Given the description of an element on the screen output the (x, y) to click on. 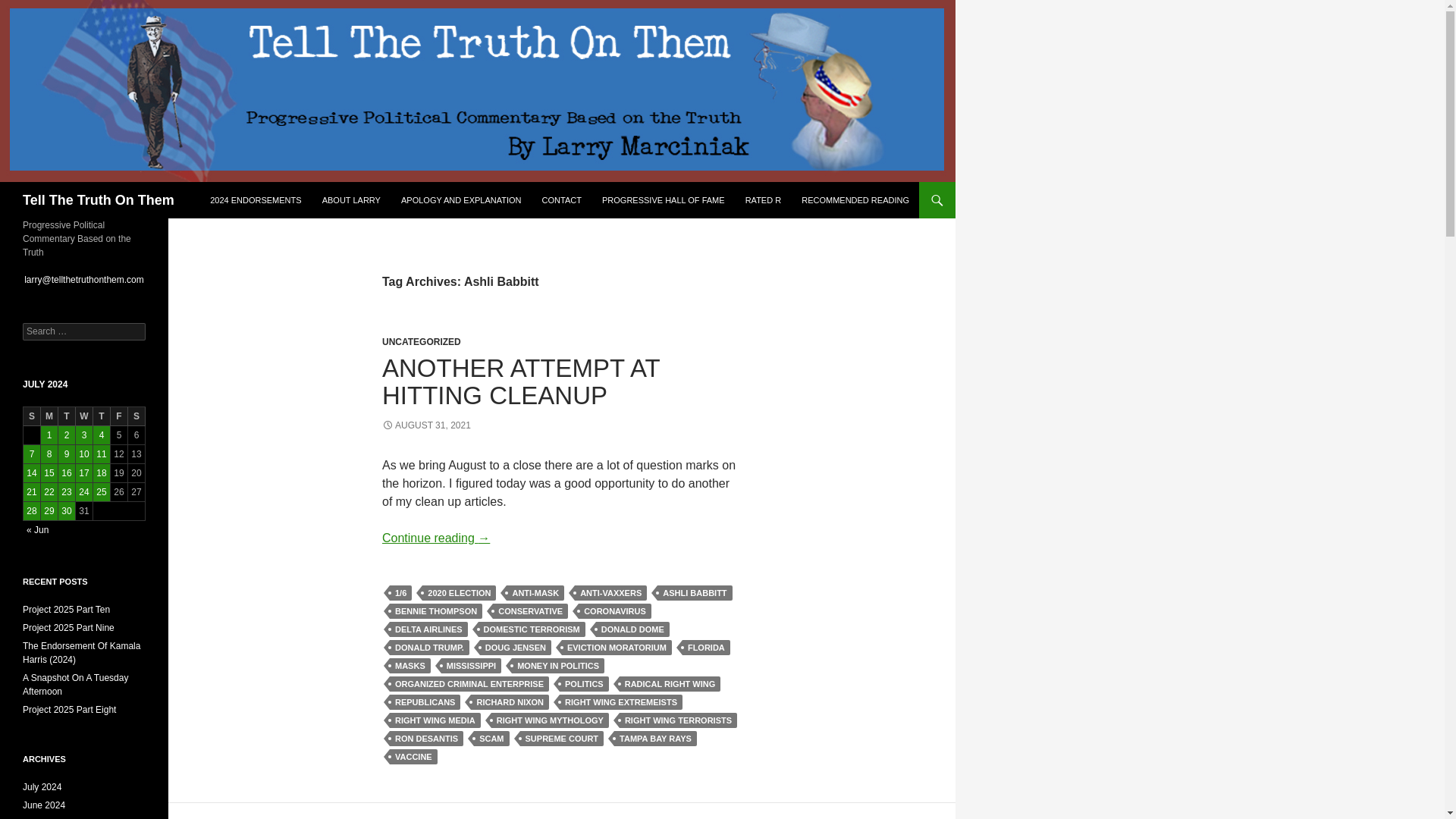
Tuesday (66, 416)
Tell The Truth On Them (98, 199)
CONSERVATIVE (530, 611)
2024 ENDORSEMENTS (255, 199)
UNCATEGORIZED (421, 341)
ANTI-MASK (535, 592)
CORONAVIRUS (614, 611)
EVICTION MORATORIUM (616, 647)
Thursday (101, 416)
AUGUST 31, 2021 (425, 425)
PROGRESSIVE HALL OF FAME (662, 199)
ORGANIZED CRIMINAL ENTERPRISE (469, 683)
ASHLI BABBITT (695, 592)
2020 ELECTION (459, 592)
